Given the description of an element on the screen output the (x, y) to click on. 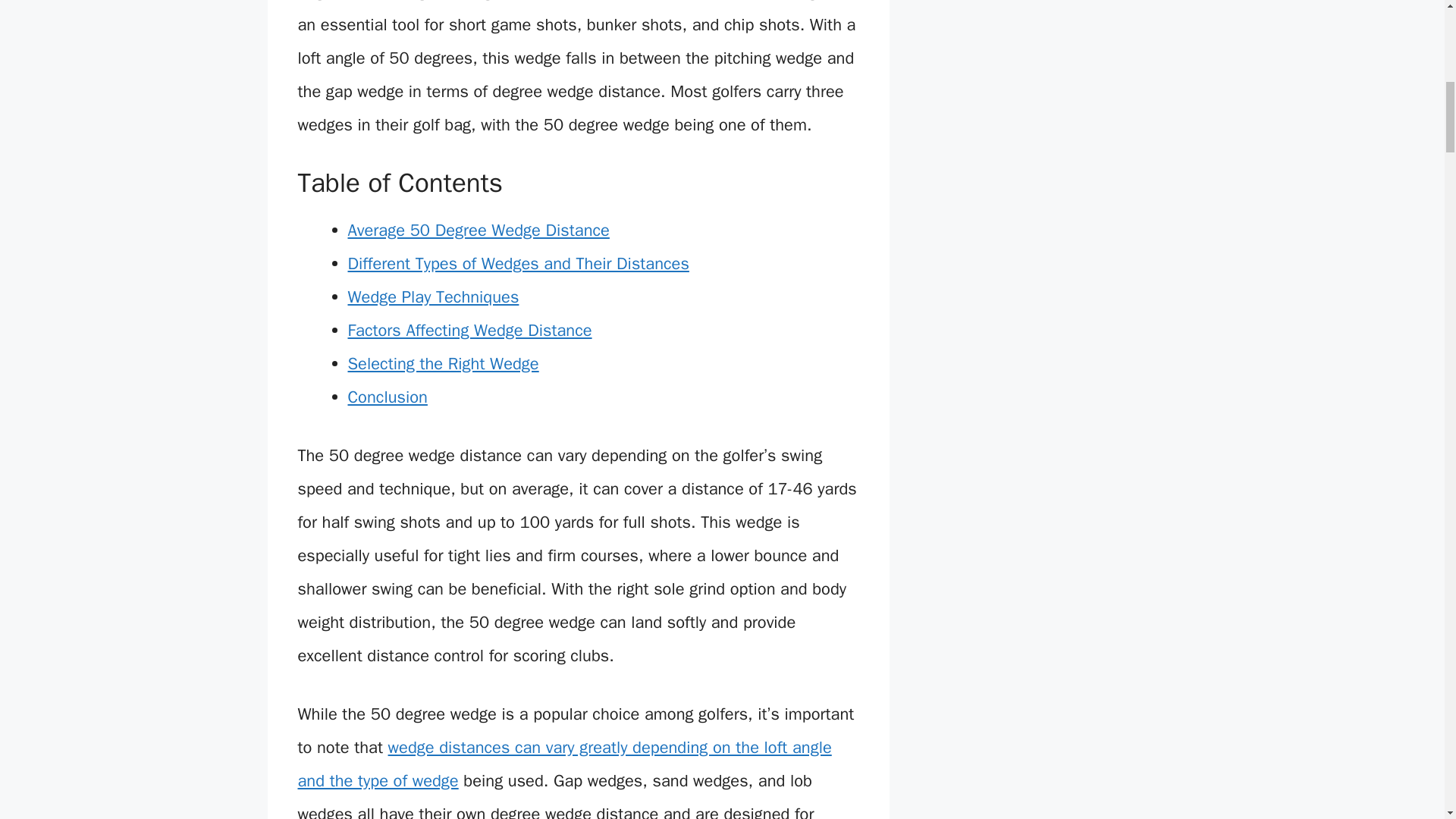
Wedge Play Techniques (432, 296)
Factors Affecting Wedge Distance (469, 330)
Selecting the Right Wedge (442, 363)
Average 50 Degree Wedge Distance (477, 230)
Different Types of Wedges and Their Distances (517, 263)
Conclusion (386, 396)
